Given the description of an element on the screen output the (x, y) to click on. 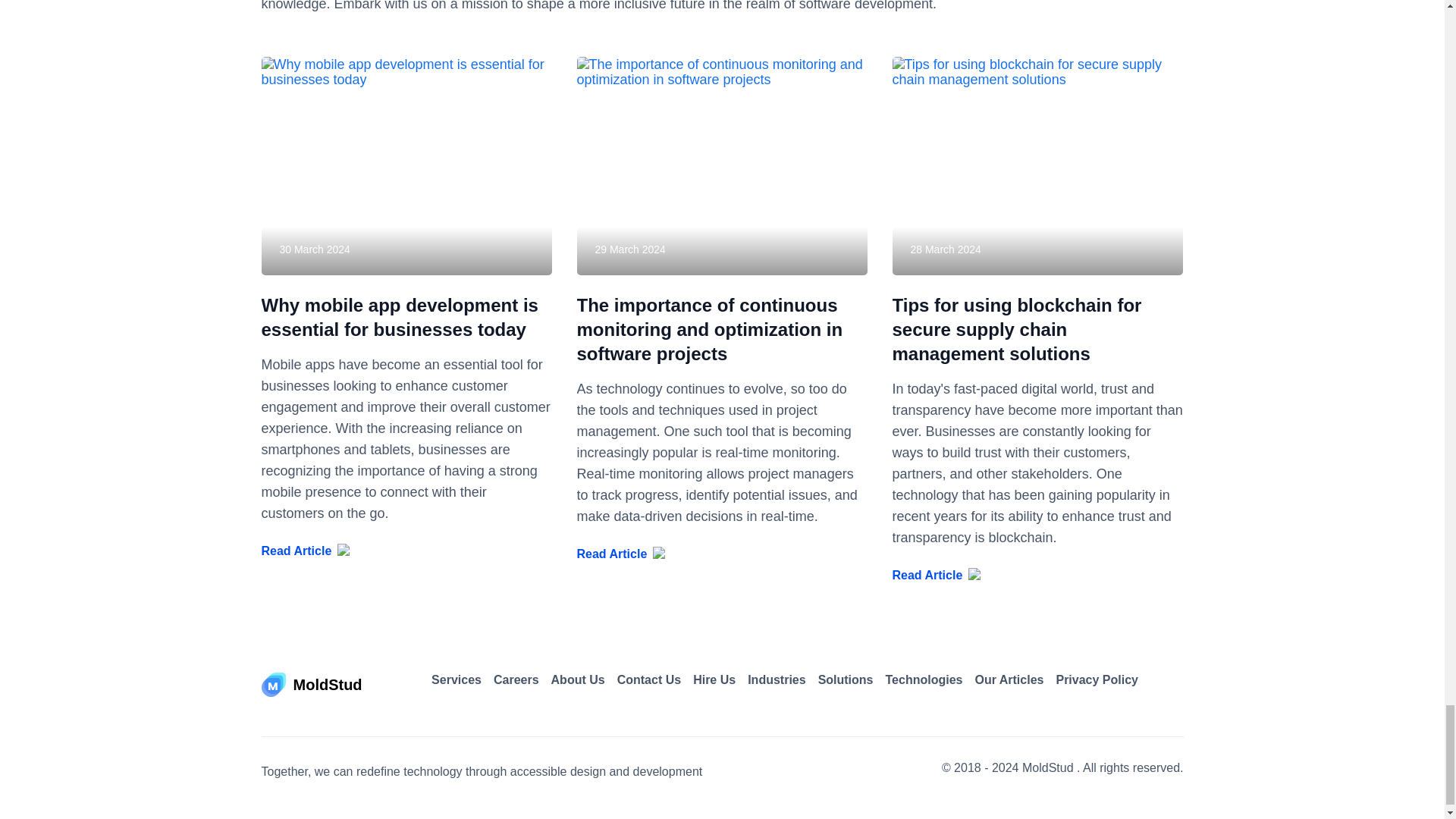
Hire Us (714, 679)
Services (455, 679)
Our Articles (1008, 679)
Privacy Policy (1096, 679)
Technologies (923, 679)
Industries (776, 679)
Solutions (845, 679)
Why mobile app development is essential for businesses today (398, 316)
Our Articles (1008, 679)
Read Article (405, 551)
Contact Us (649, 679)
Industries (776, 679)
Solutions (845, 679)
